Given the description of an element on the screen output the (x, y) to click on. 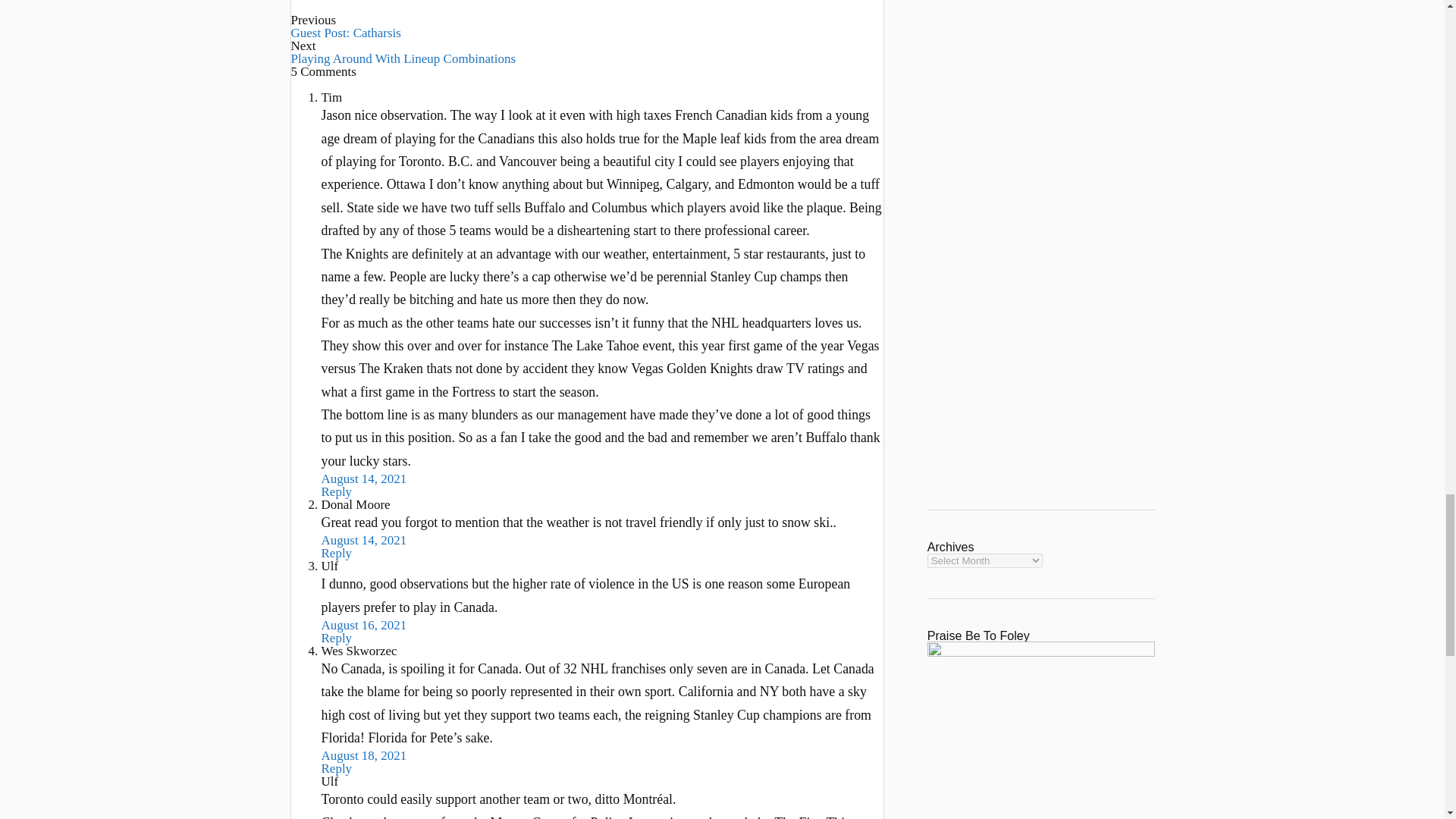
Next post: Playing Around With Lineup Combinations (403, 58)
Previous post: Guest Post: Catharsis (346, 32)
August 14, 2021 at 9:13 PM (364, 540)
Guest Post: Catharsis (346, 32)
August 14, 2021 at 10:56 AM (364, 478)
August 18, 2021 at 6:31 AM (364, 755)
August 16, 2021 at 2:29 AM (364, 625)
